Given the description of an element on the screen output the (x, y) to click on. 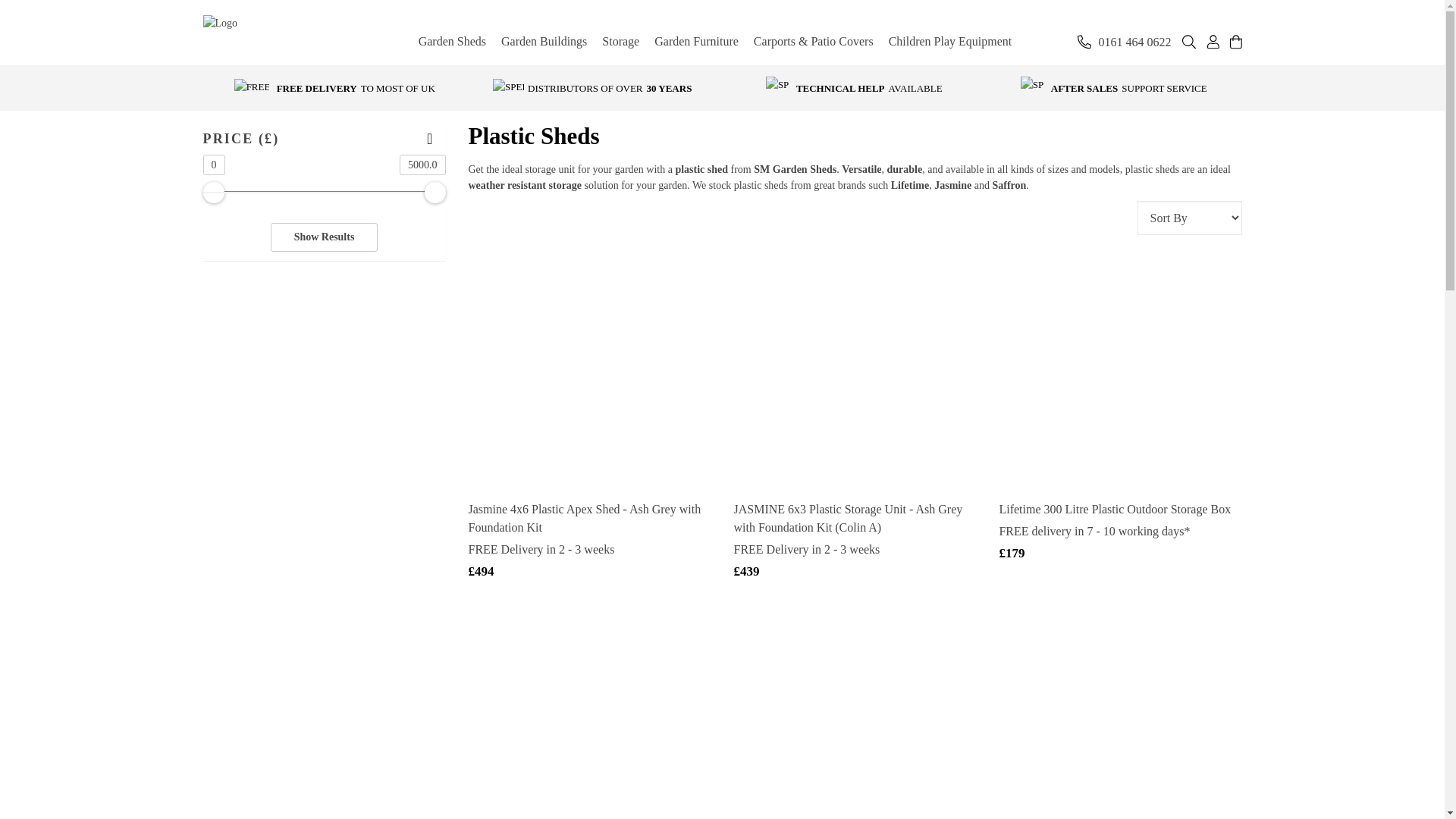
0 (324, 192)
Garden Sheds (452, 41)
5000 (324, 192)
